Given the description of an element on the screen output the (x, y) to click on. 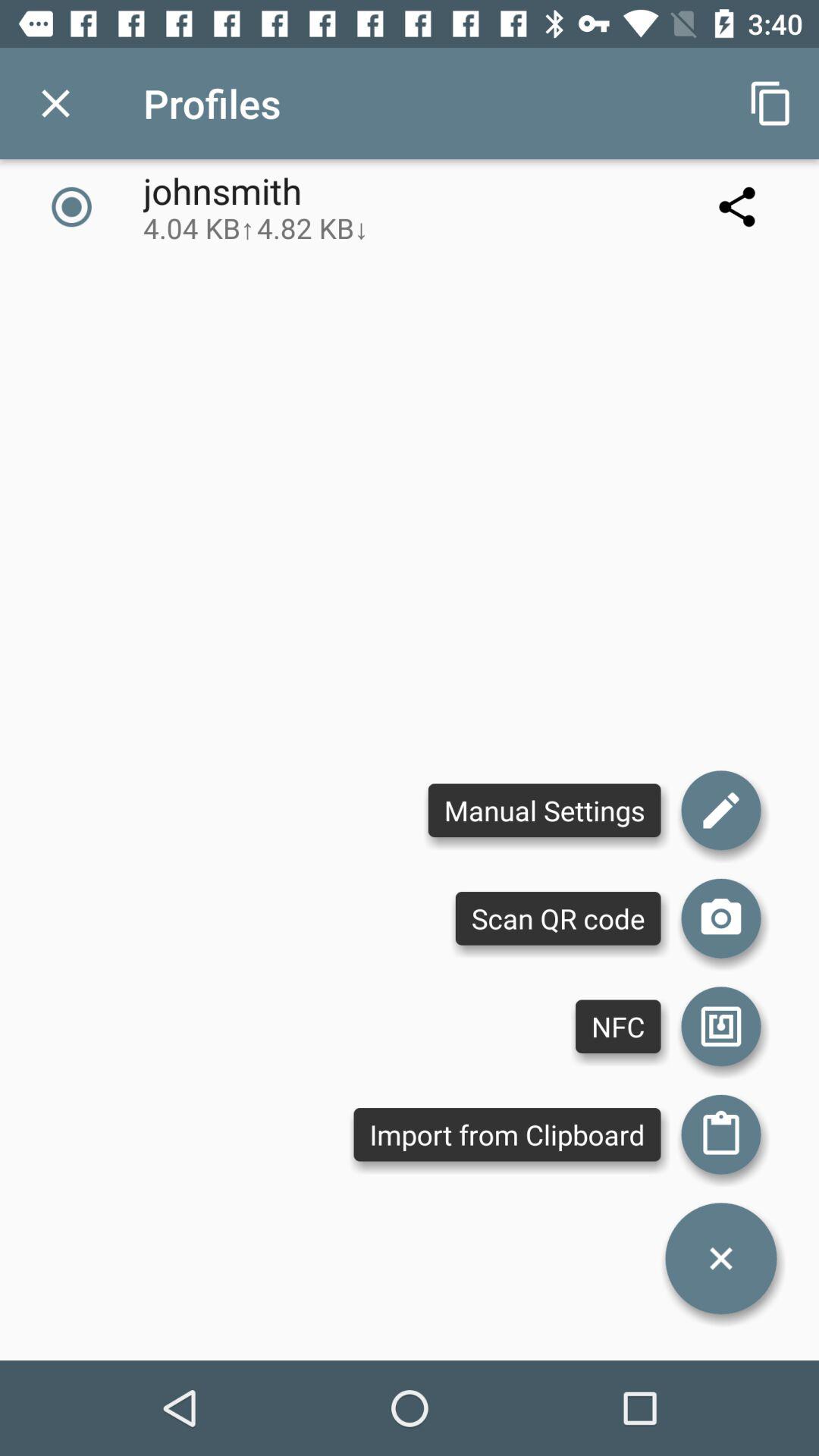
turn on item at the center (544, 810)
